Given the description of an element on the screen output the (x, y) to click on. 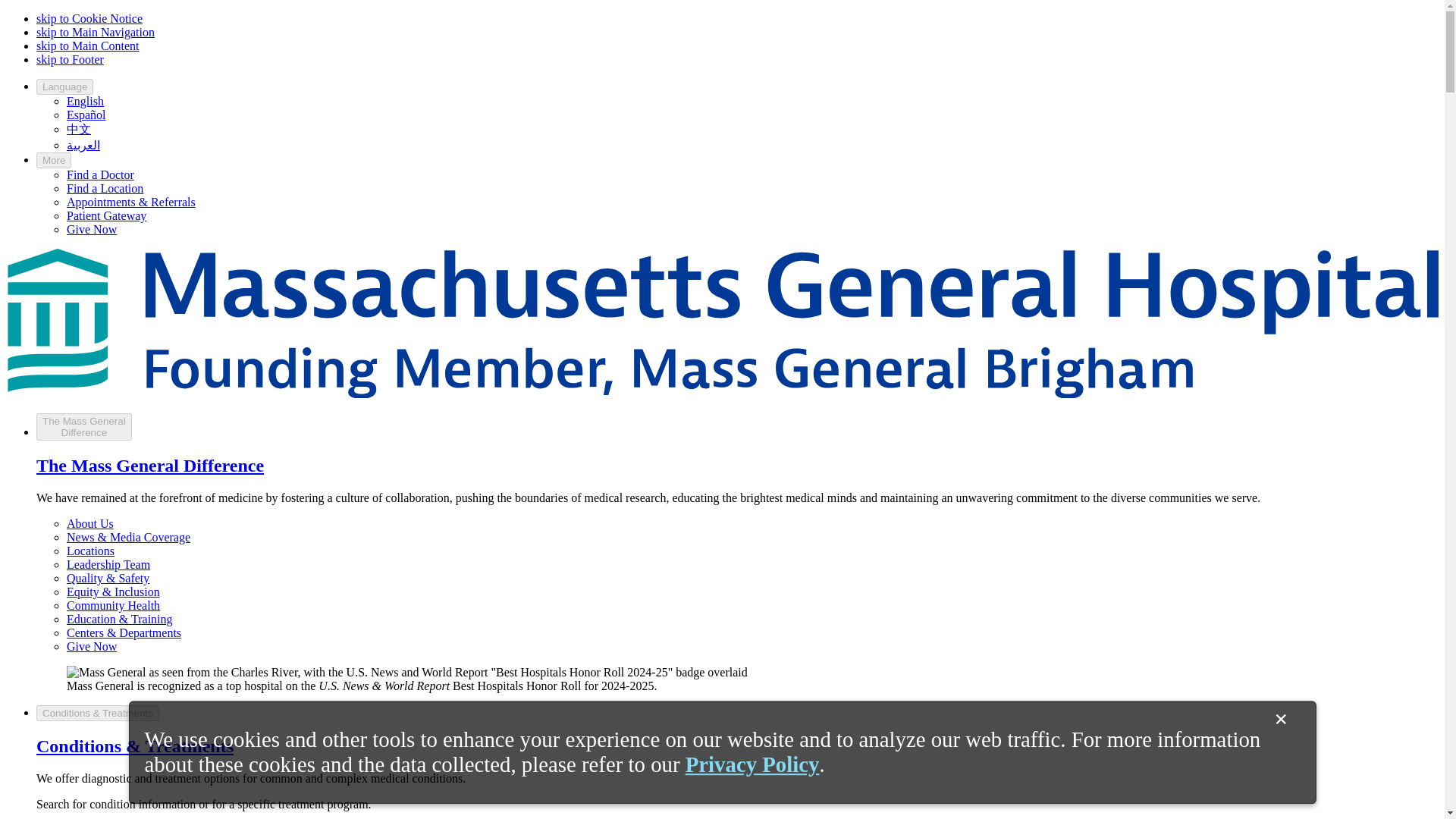
skip to Main Content (87, 45)
Give Now (91, 228)
The Mass General Difference (149, 465)
Language (64, 86)
Locations (90, 550)
English (84, 101)
Give Now (91, 645)
Leadership Team (107, 563)
Find a Doctor (99, 174)
More (53, 160)
Find a Location (104, 187)
skip to Footer (69, 59)
skip to Main Navigation (84, 426)
About Us (95, 31)
